Given the description of an element on the screen output the (x, y) to click on. 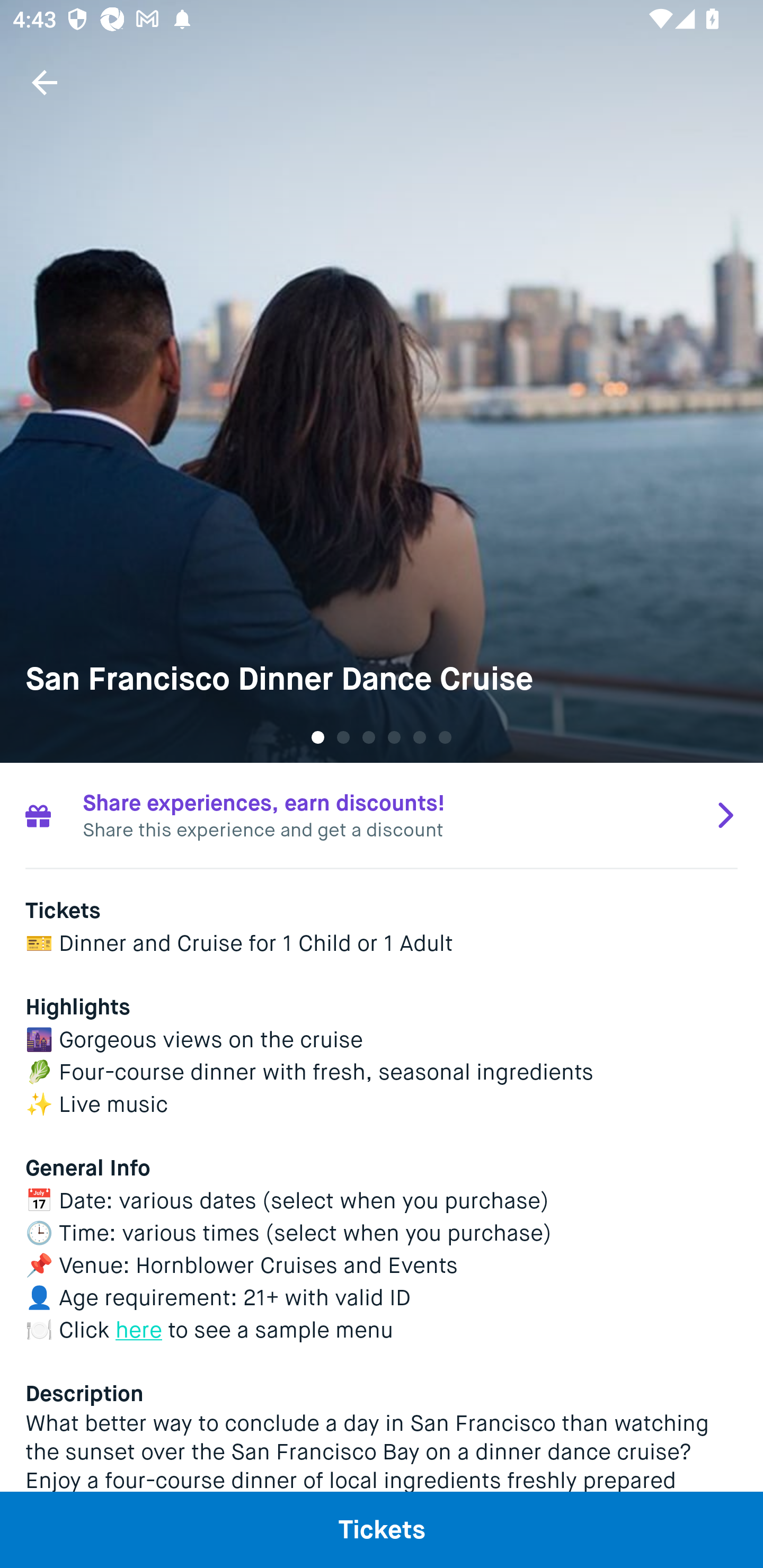
Navigate up (44, 82)
Tickets (381, 1529)
